Given the description of an element on the screen output the (x, y) to click on. 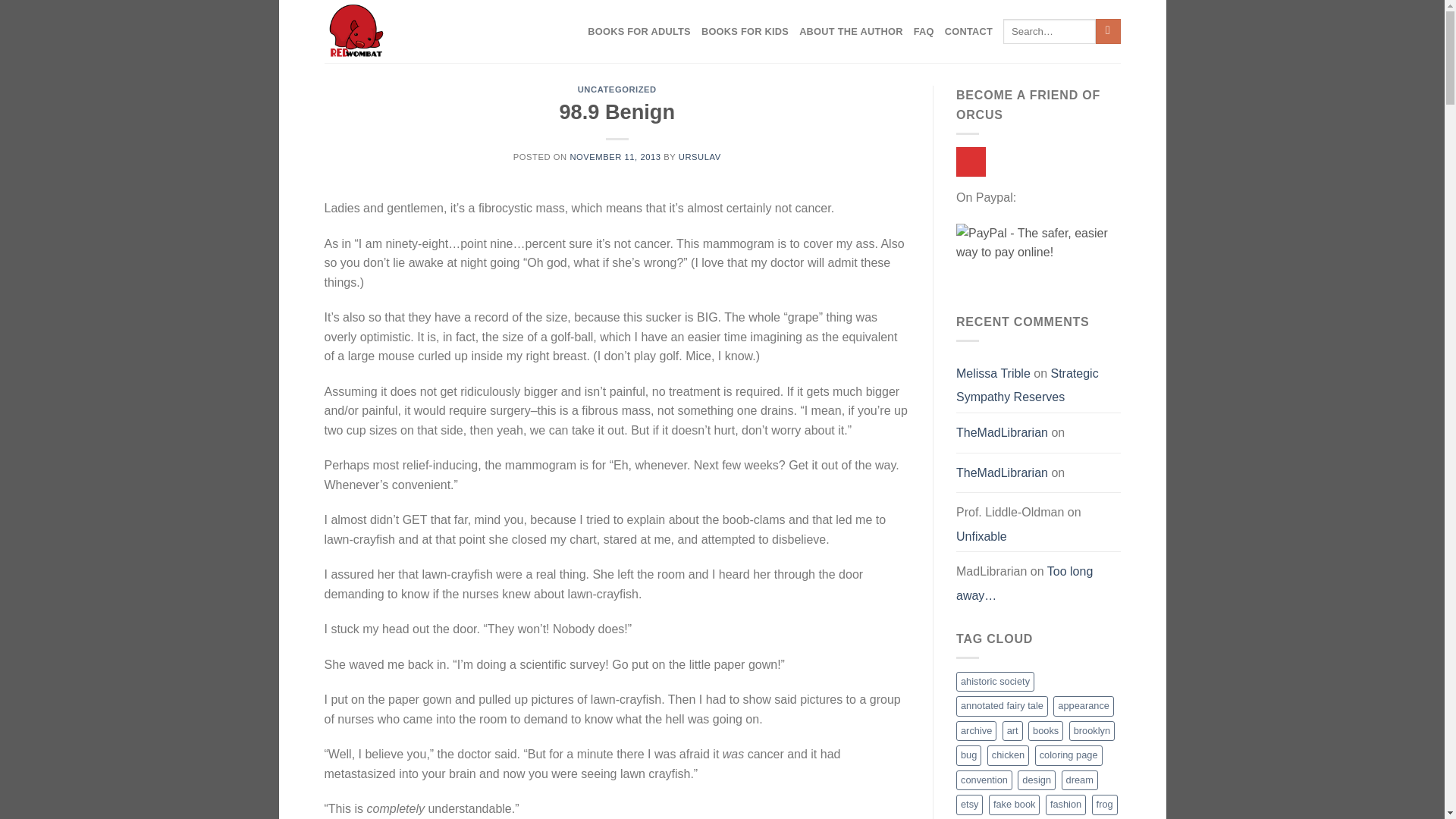
UNCATEGORIZED (617, 89)
NOVEMBER 11, 2013 (615, 156)
BOOKS FOR ADULTS (639, 31)
BOOKS FOR KIDS (745, 31)
URSULAV (699, 156)
